Given the description of an element on the screen output the (x, y) to click on. 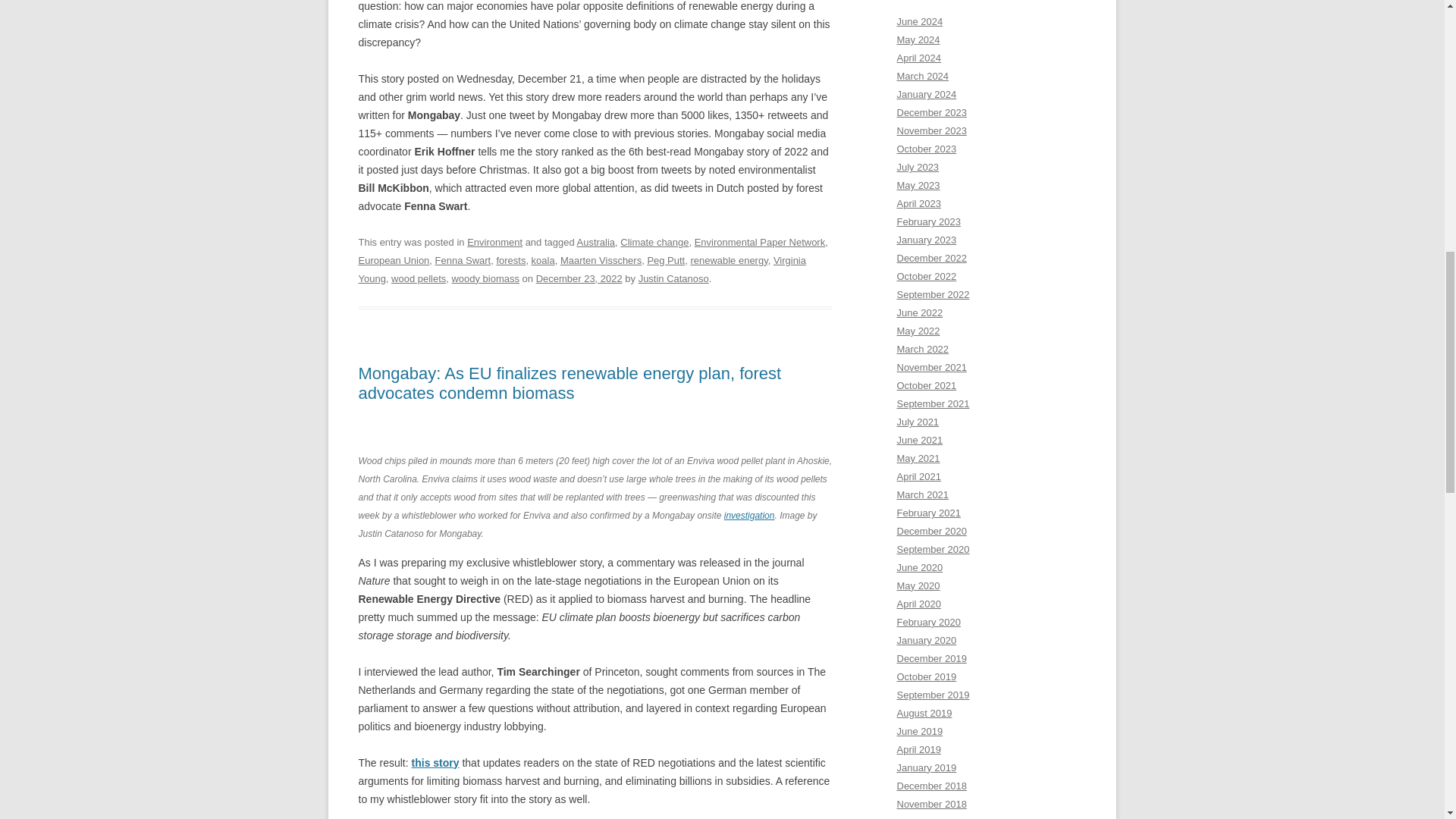
View all posts by Justin Catanoso (674, 278)
woody biomass (485, 278)
December 23, 2022 (579, 278)
Australia (595, 242)
Virginia Young (581, 269)
wood pellets (418, 278)
Environment (494, 242)
investigation (748, 515)
Environmental Paper Network (759, 242)
European Union (393, 260)
koala (542, 260)
Justin Catanoso (674, 278)
renewable energy (728, 260)
Peg Putt (665, 260)
Climate change (654, 242)
